Given the description of an element on the screen output the (x, y) to click on. 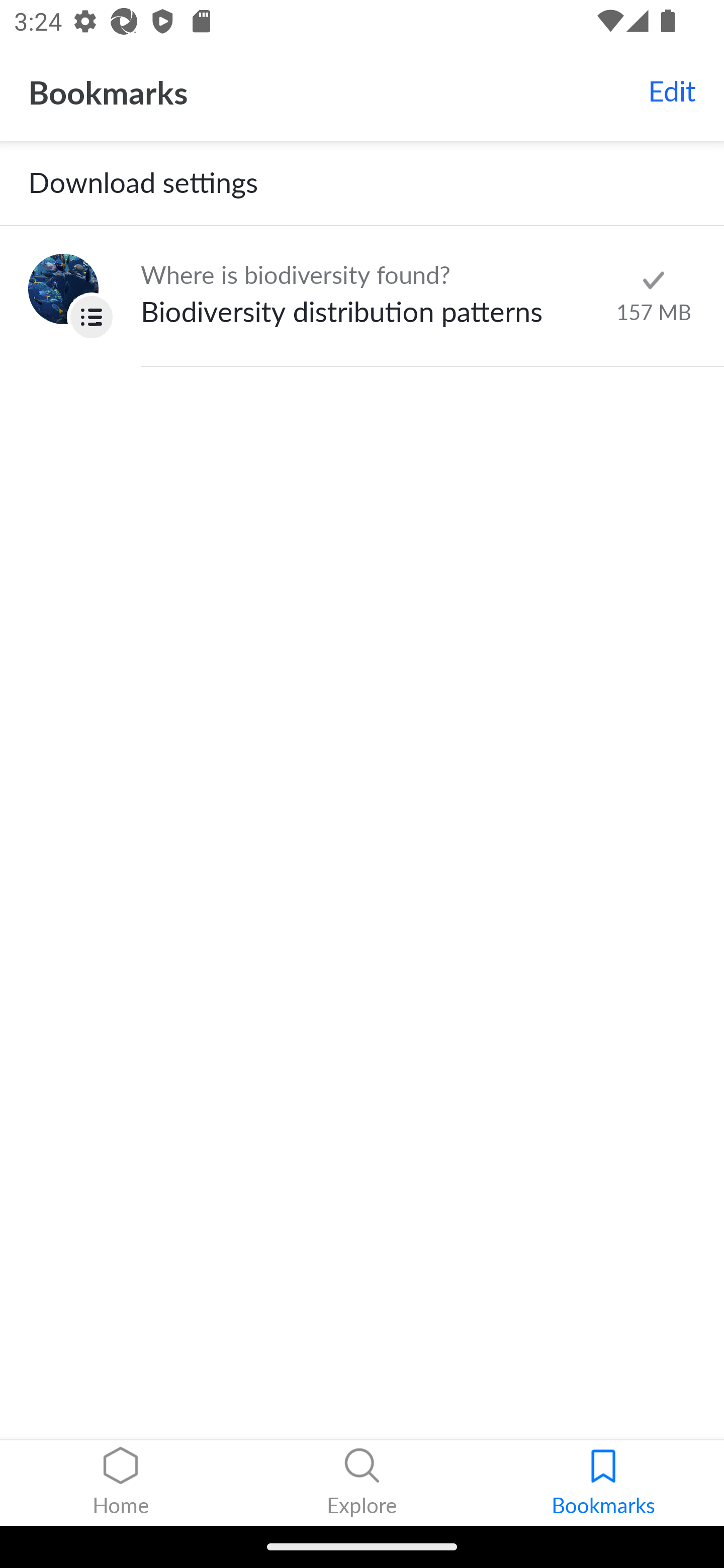
Edit (671, 91)
Download settings (362, 183)
Stop downloading bookmark Checkmark 157 MB (653, 296)
Home (120, 1482)
Explore (361, 1482)
Bookmarks (603, 1482)
